Given the description of an element on the screen output the (x, y) to click on. 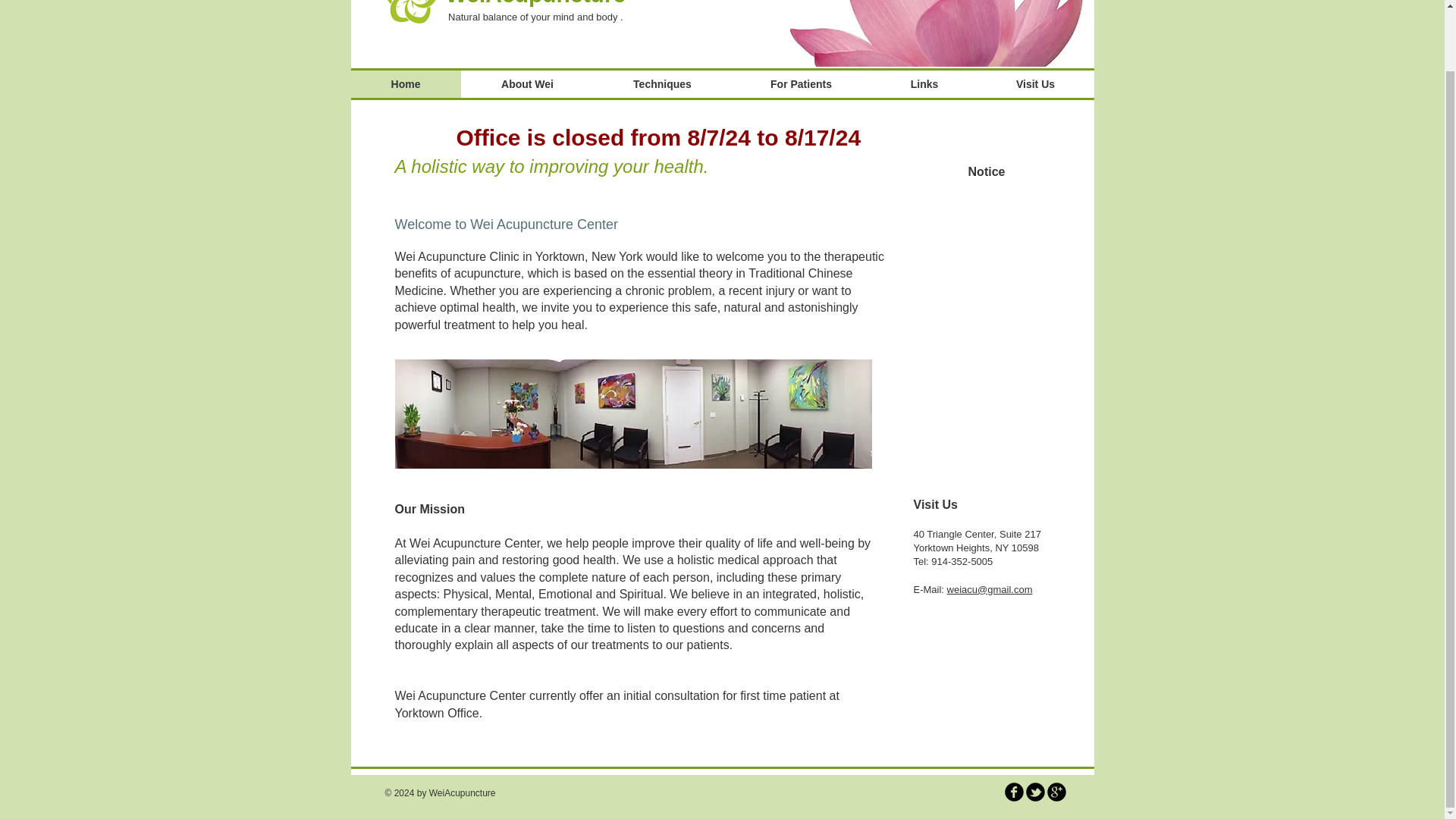
Home (405, 83)
Links (924, 83)
About Wei (527, 83)
For Patients (801, 83)
Techniques (662, 83)
Visit Us (1034, 83)
